Given the description of an element on the screen output the (x, y) to click on. 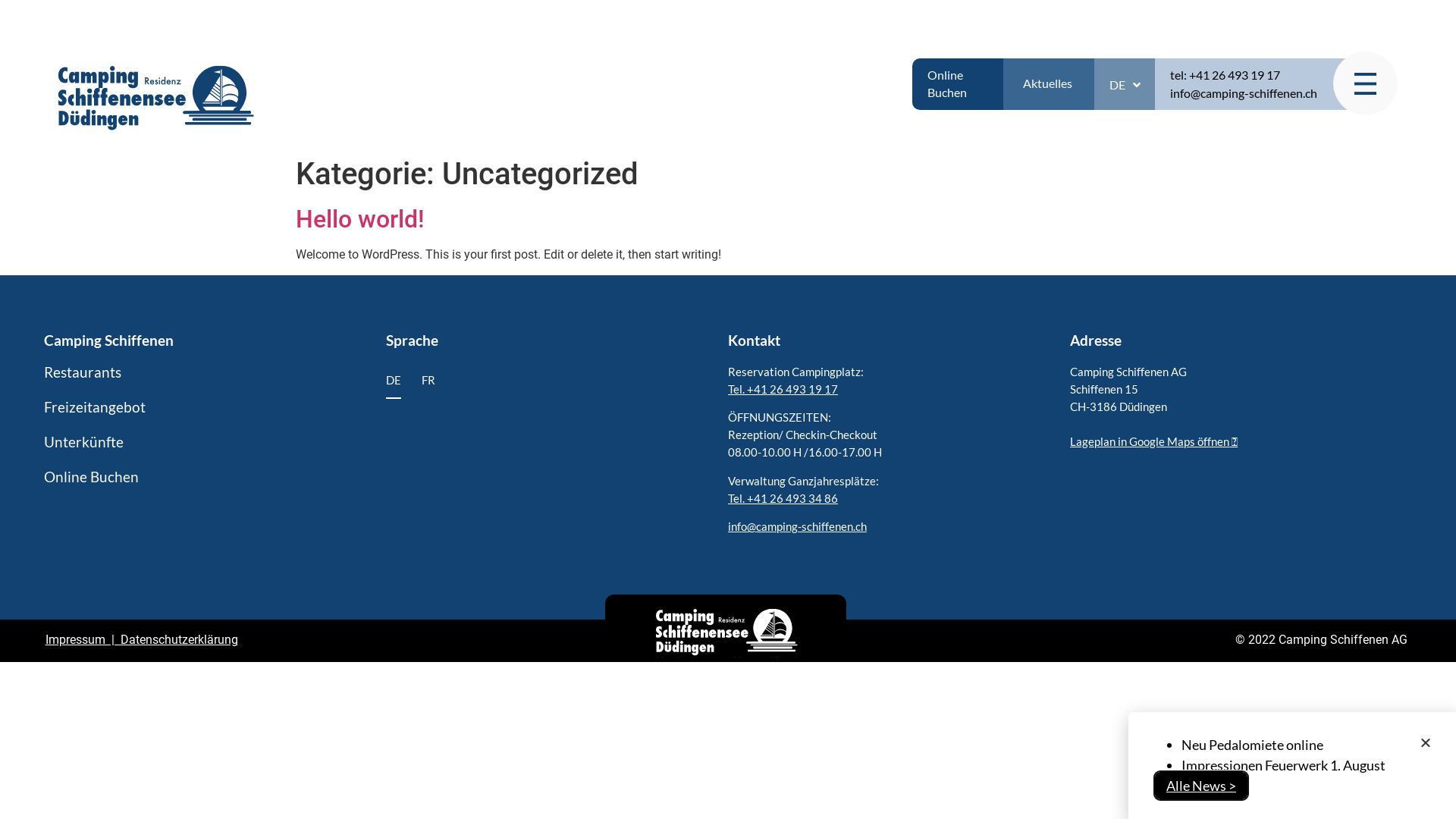
DE Element type: text (393, 380)
Tel. +41 26 493 19 17 Element type: text (782, 388)
info@camping-schiffenen.ch Element type: text (1243, 92)
DE Element type: text (1124, 84)
Tel. +41 26 493 34 86 Element type: text (782, 498)
Freizeitangebot Element type: text (214, 406)
Hello world! Element type: text (359, 218)
FR Element type: text (428, 380)
tel: +41 26 493 19 17 Element type: text (1225, 74)
info@camping-schiffenen.ch Element type: text (797, 526)
Restaurants Element type: text (214, 371)
Alle News > Element type: text (1200, 785)
Online Buchen Element type: text (214, 476)
